Given the description of an element on the screen output the (x, y) to click on. 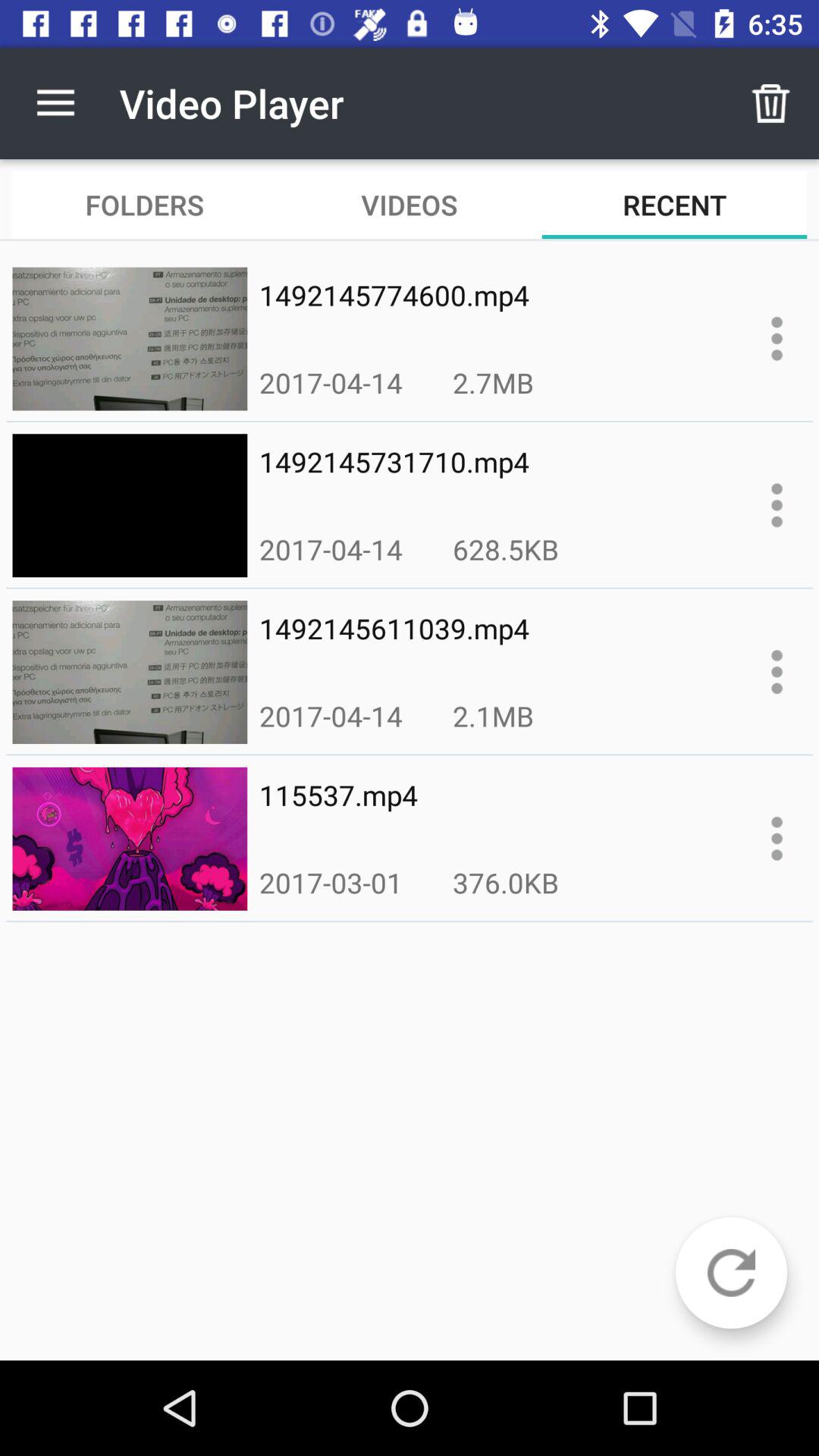
refresh page (731, 1272)
